Given the description of an element on the screen output the (x, y) to click on. 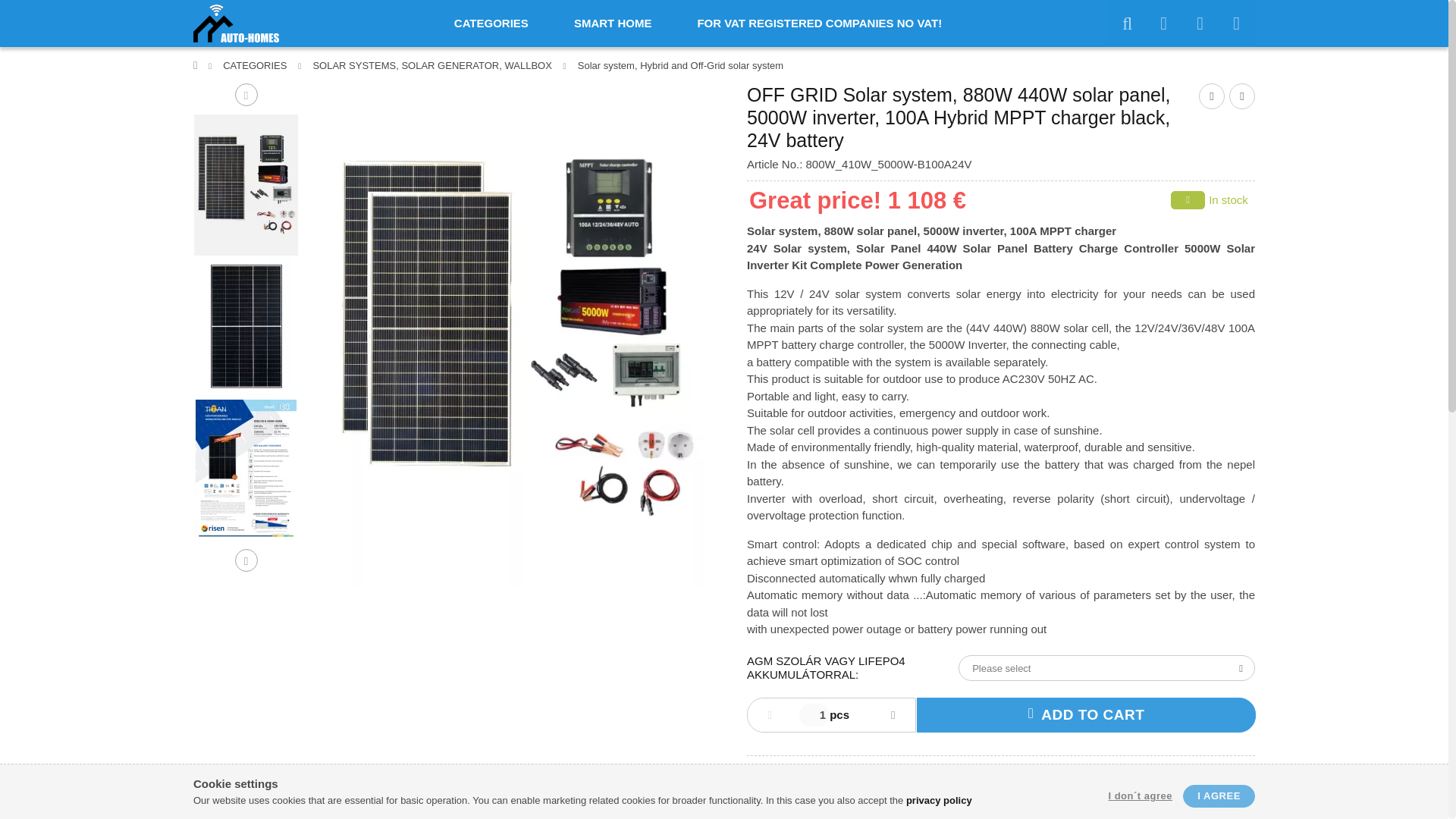
1 (814, 714)
CATEGORIES (490, 23)
Main category  (196, 65)
